Given the description of an element on the screen output the (x, y) to click on. 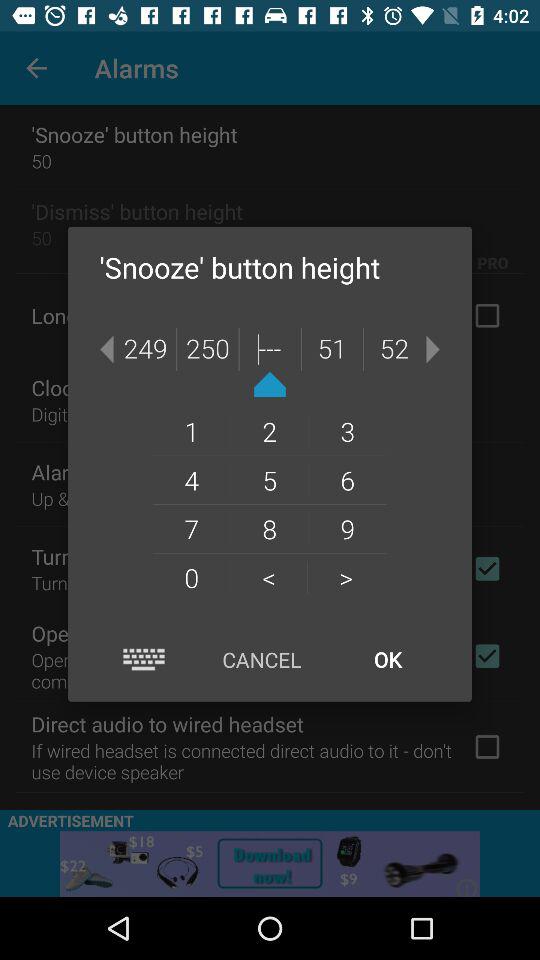
tap the 8 (269, 528)
